Given the description of an element on the screen output the (x, y) to click on. 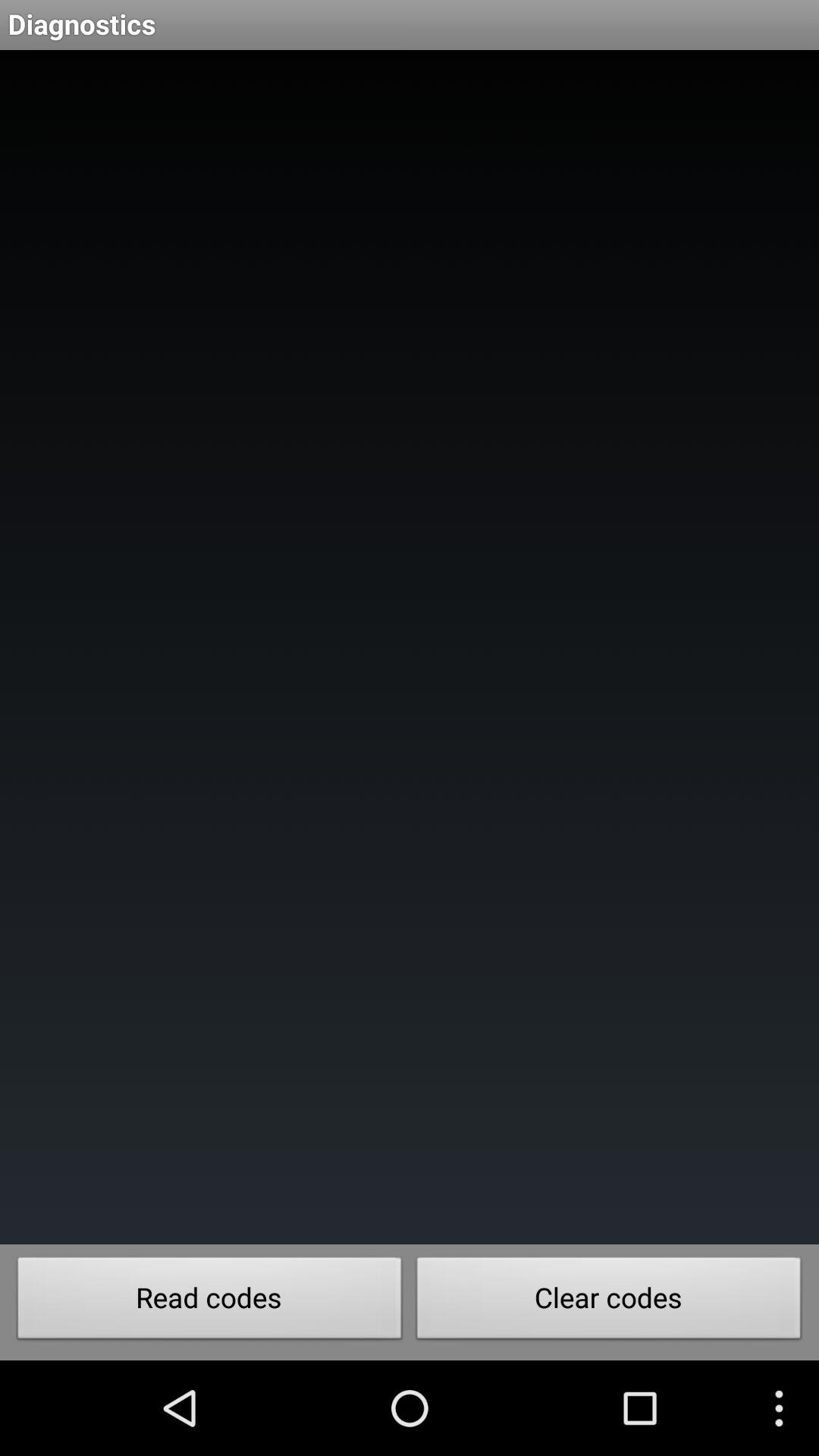
click the clear codes (608, 1302)
